Given the description of an element on the screen output the (x, y) to click on. 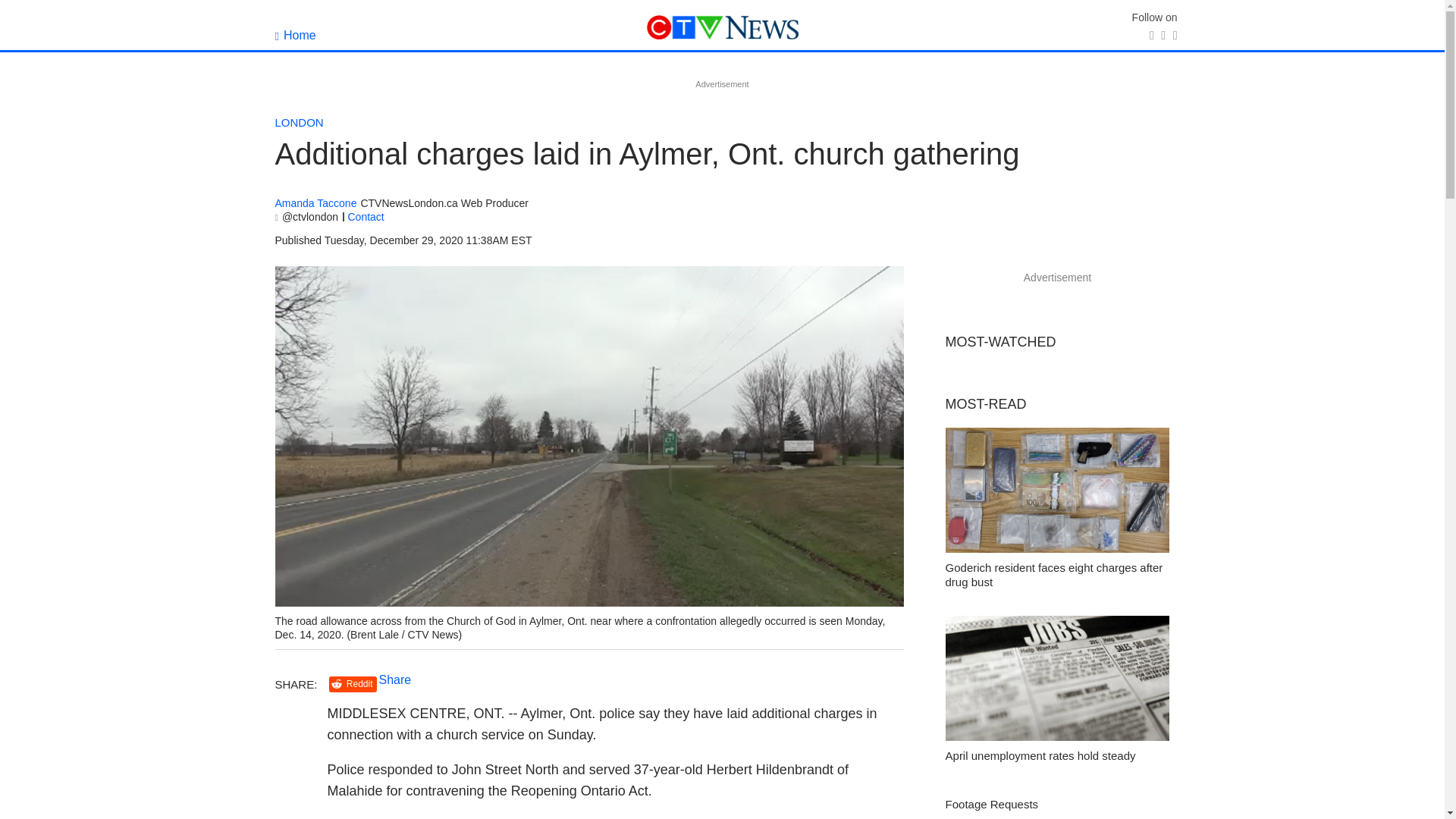
Home (295, 34)
Reddit (353, 684)
Amanda Taccone (315, 203)
LONDON (299, 122)
Contact (365, 216)
Share (395, 679)
